Given the description of an element on the screen output the (x, y) to click on. 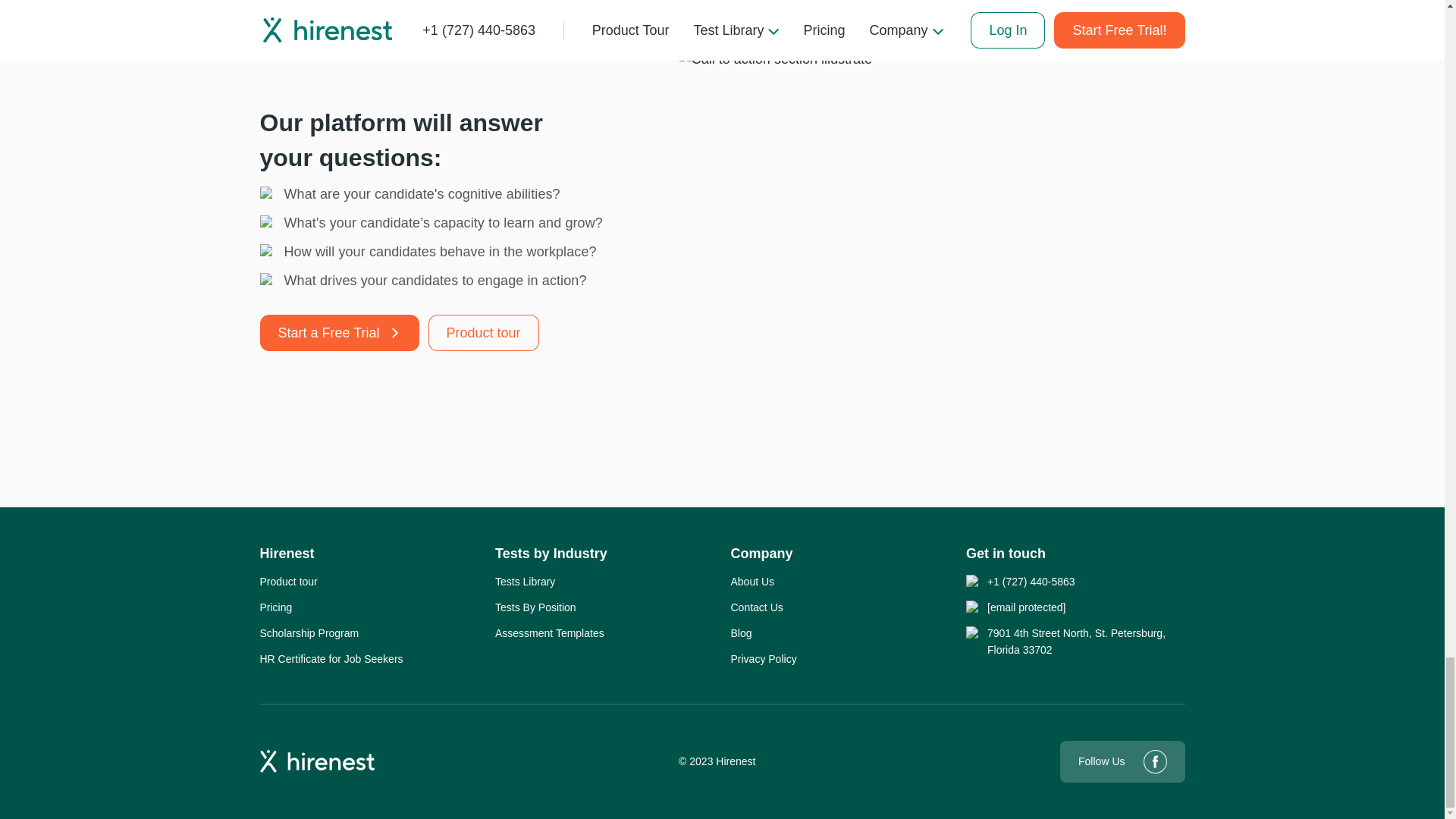
Tests Library (524, 581)
Assessment Templates (549, 632)
About Us (752, 581)
Tests By Position (535, 606)
Start a Free Trial (339, 332)
HR Certificate for Job Seekers (331, 658)
Tests by Industry (551, 553)
Scholarship Program (308, 632)
Product tour (483, 332)
Product tour (288, 581)
